Given the description of an element on the screen output the (x, y) to click on. 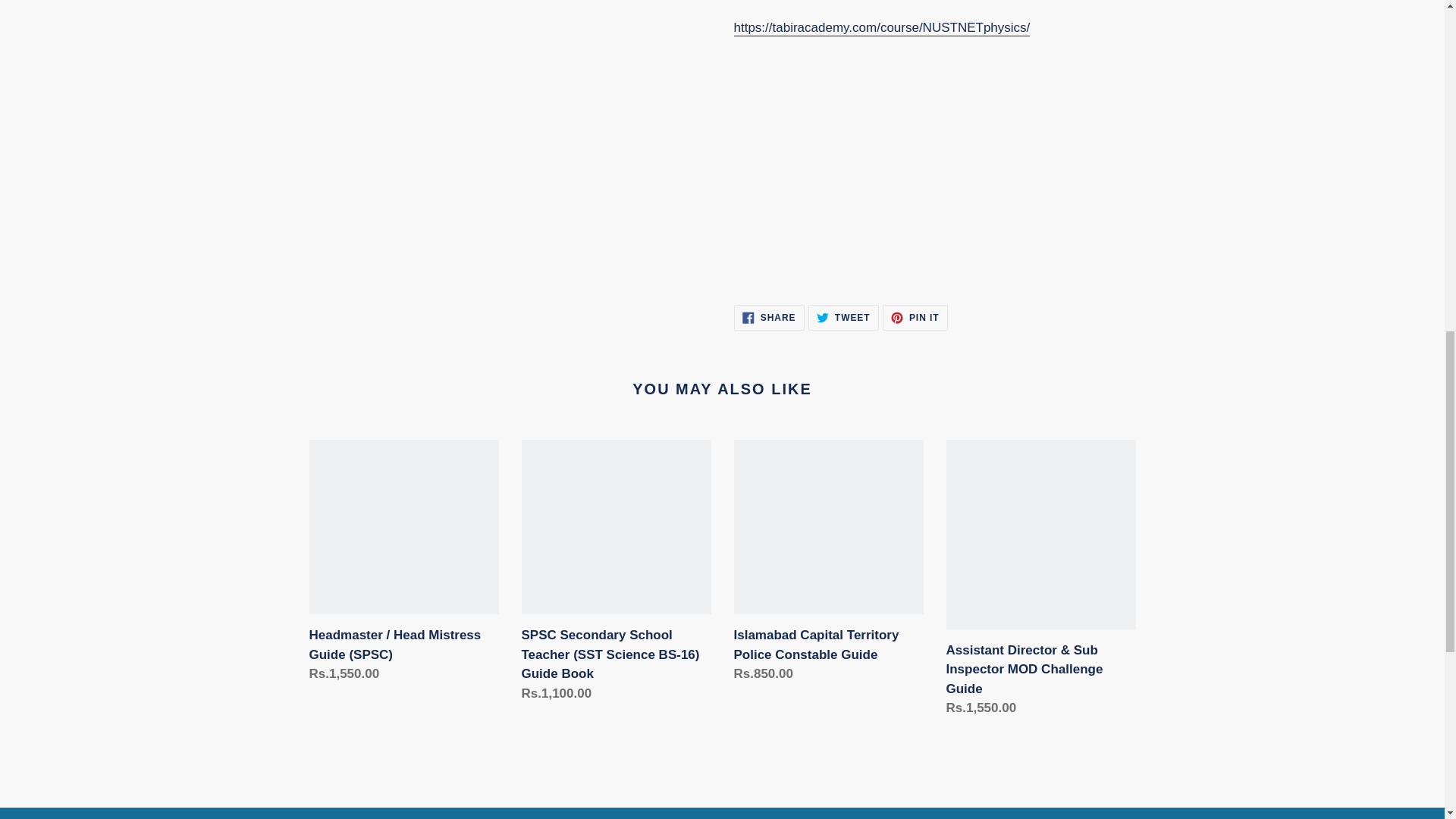
YouTube video player (934, 164)
